Given the description of an element on the screen output the (x, y) to click on. 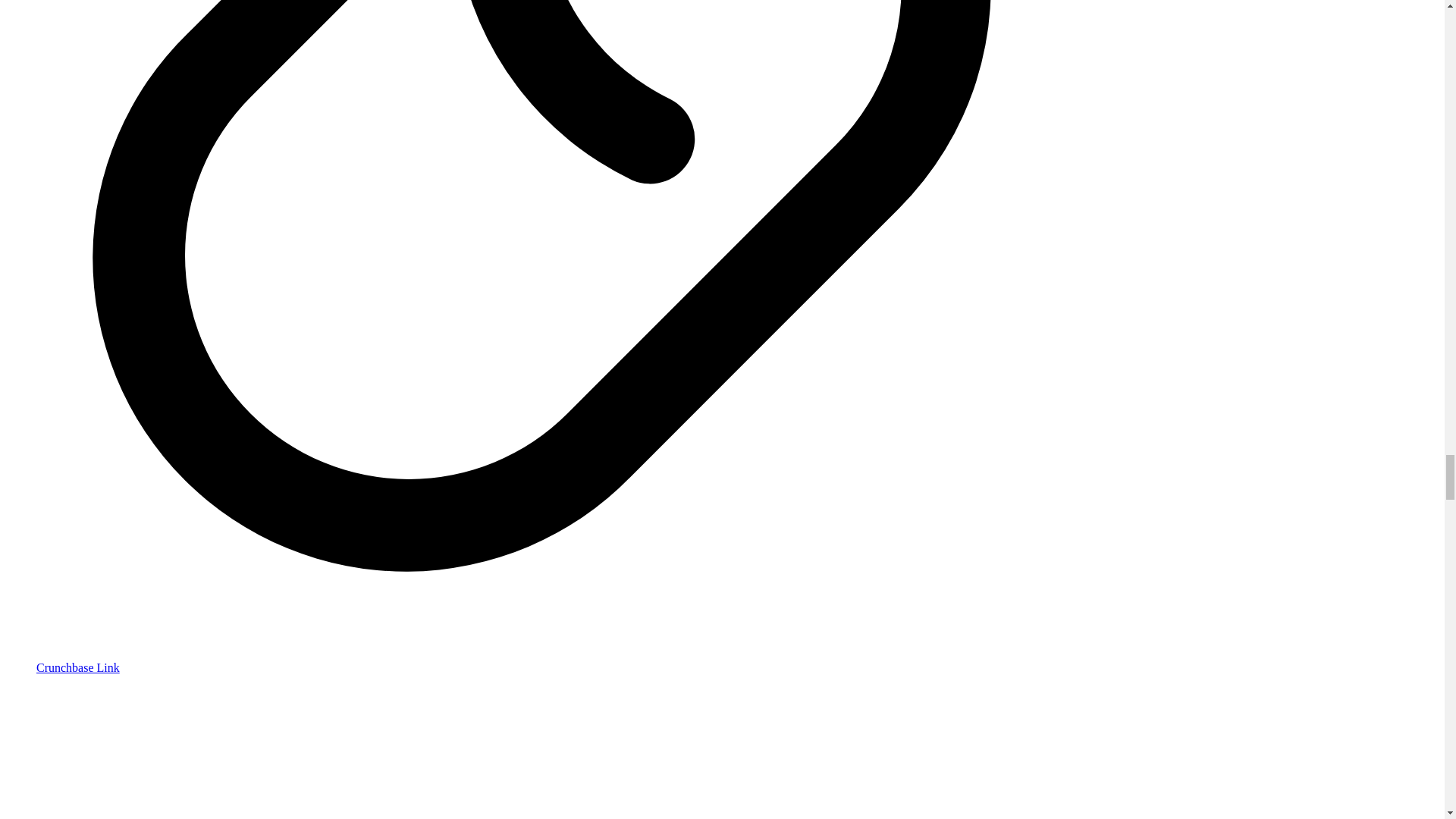
Crunchbase Link (77, 667)
